Given the description of an element on the screen output the (x, y) to click on. 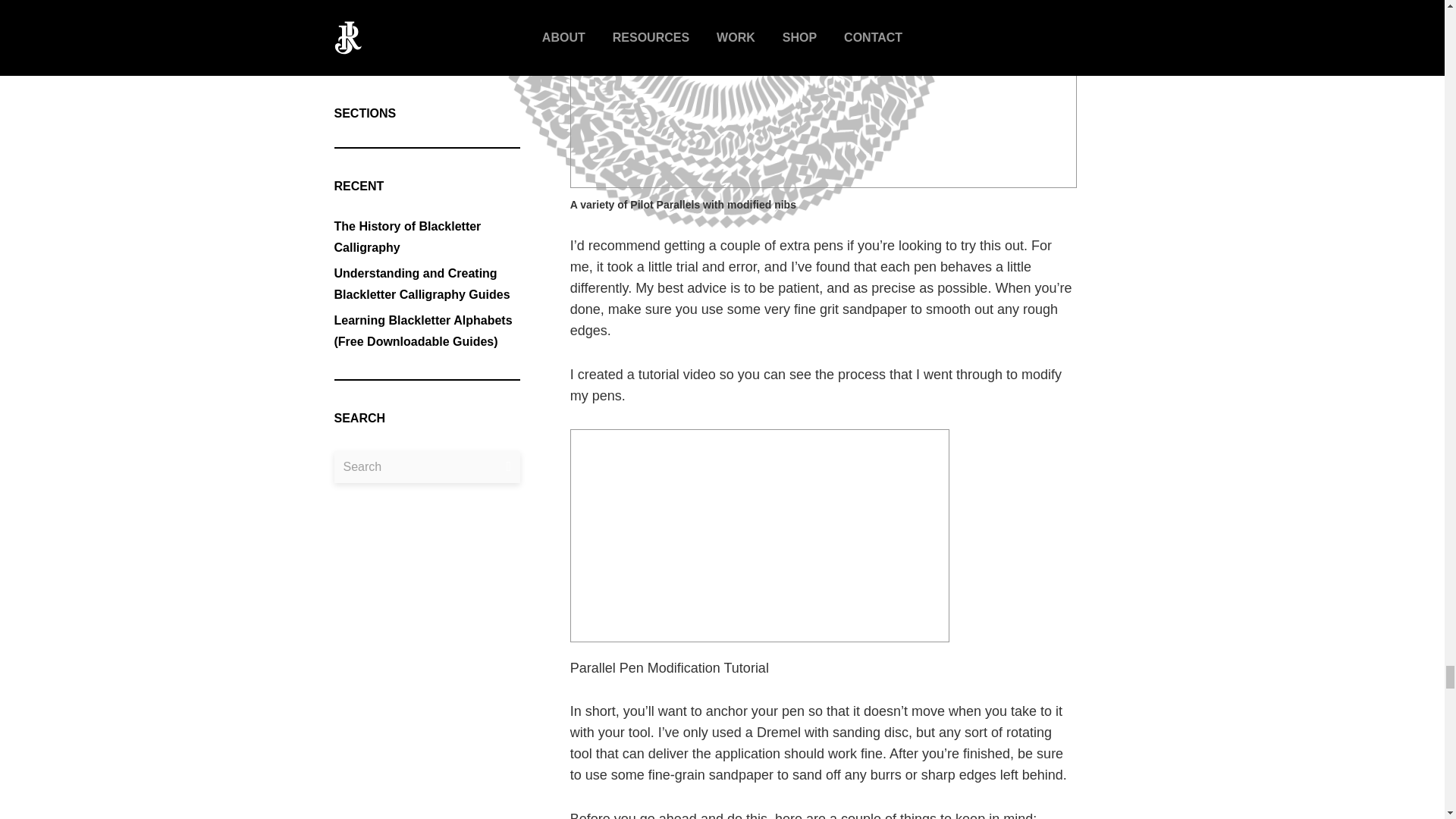
Parallel Pen Modification Tutorial (759, 535)
